Given the description of an element on the screen output the (x, y) to click on. 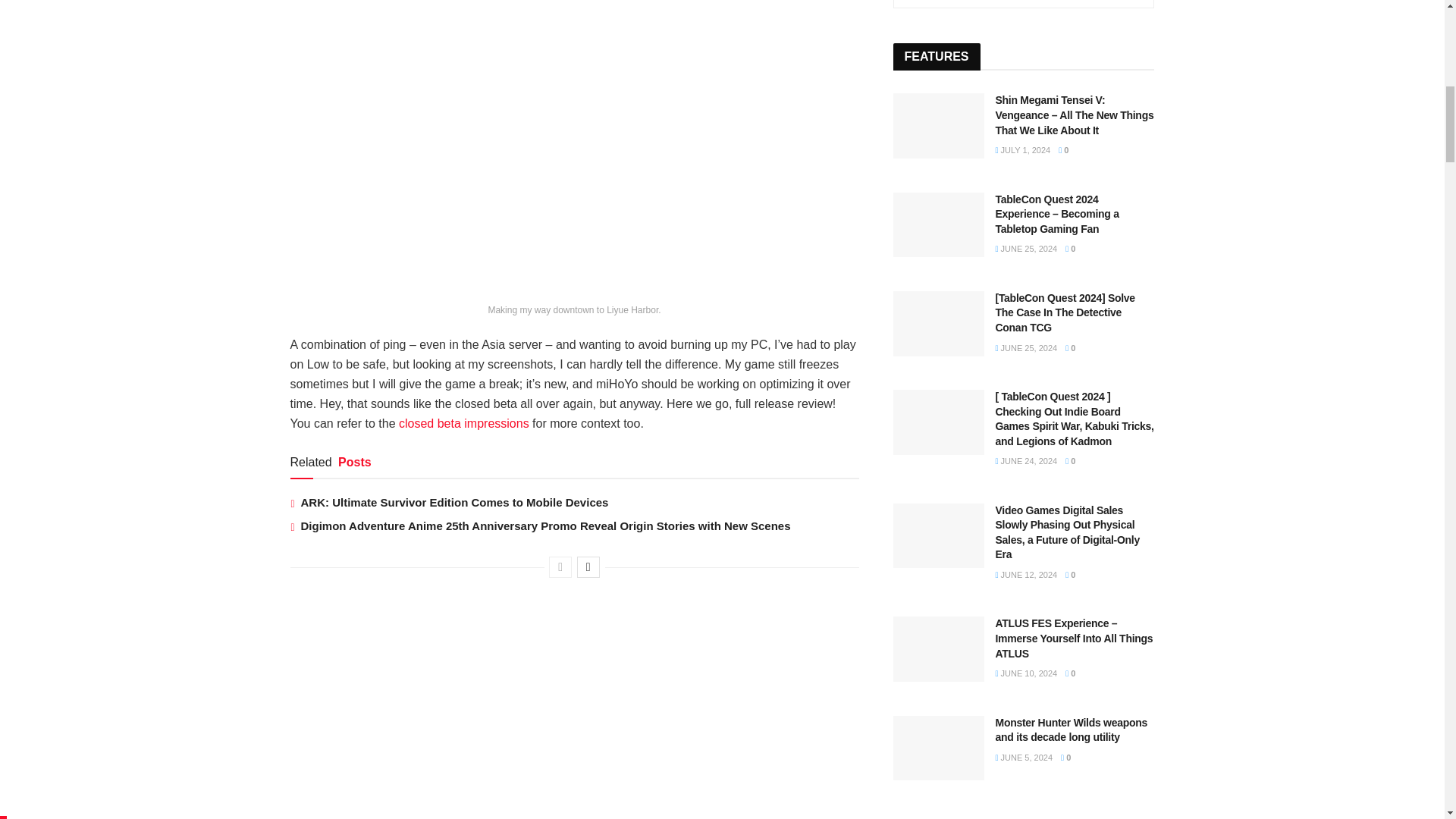
Next (587, 567)
Previous (560, 567)
3rd party ad content (402, 702)
